Given the description of an element on the screen output the (x, y) to click on. 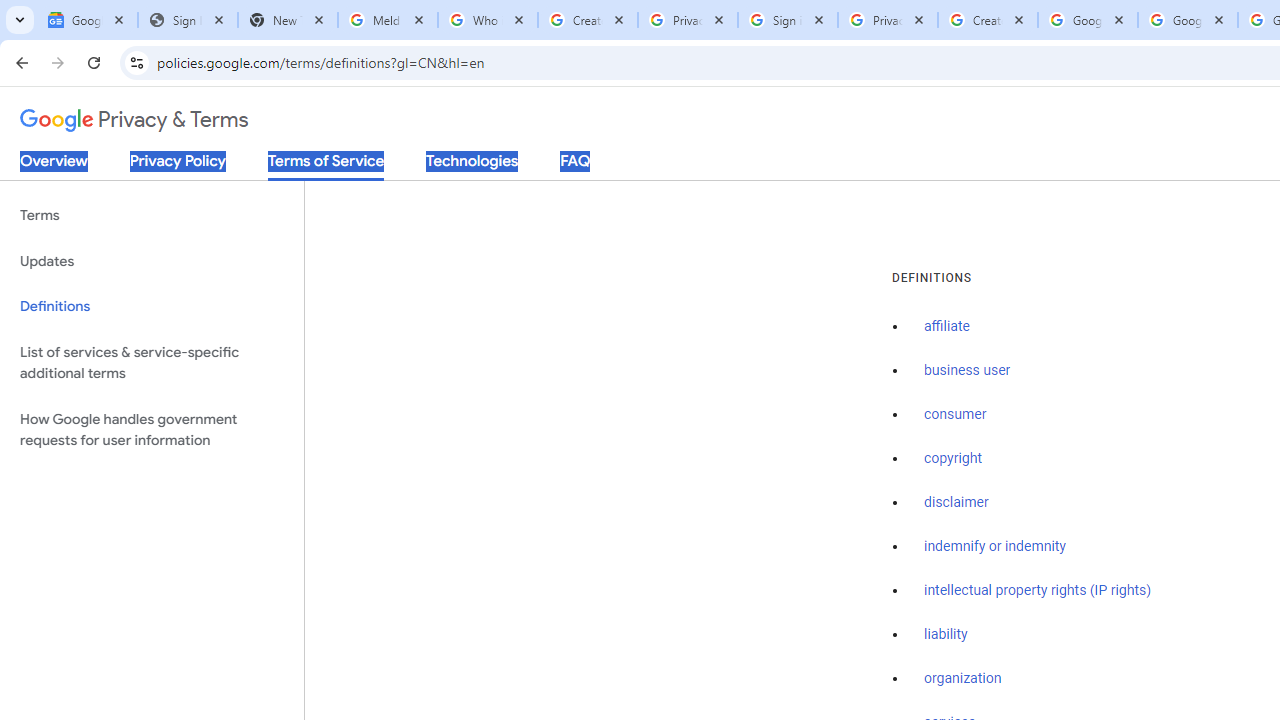
business user (967, 371)
disclaimer (956, 502)
intellectual property rights (IP rights) (1038, 590)
copyright (952, 459)
indemnify or indemnity (995, 546)
Sign In - USA TODAY (188, 20)
Create your Google Account (988, 20)
liability (945, 634)
consumer (955, 415)
